Given the description of an element on the screen output the (x, y) to click on. 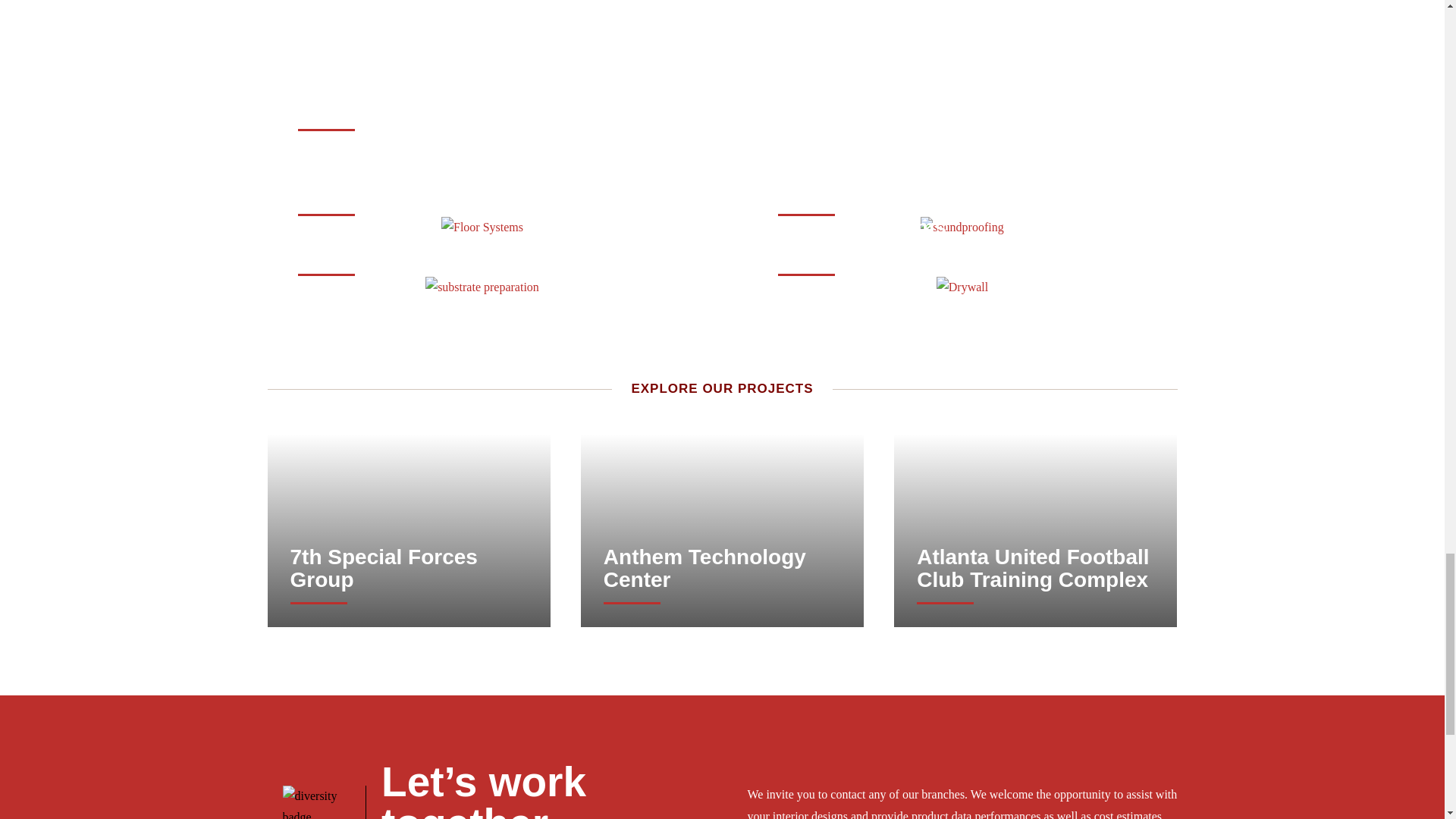
Flooring (339, 105)
7th Special Forces Group (409, 178)
Atlanta United Football Club Training Complex (408, 569)
Substrate Preparation (862, 238)
Anthem Technology Center (1035, 569)
